Given the description of an element on the screen output the (x, y) to click on. 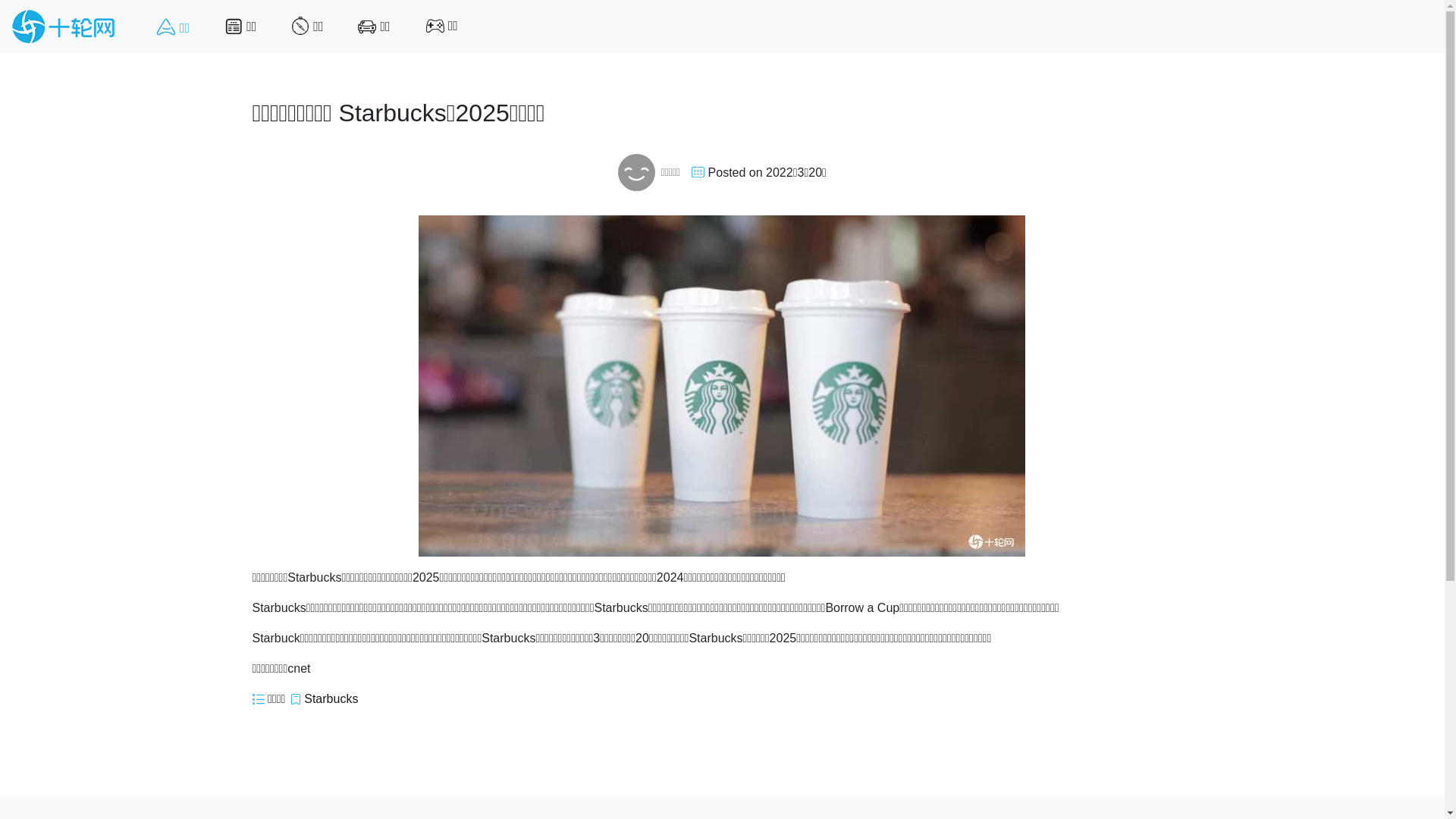
Starbucks Element type: text (330, 698)
